Given the description of an element on the screen output the (x, y) to click on. 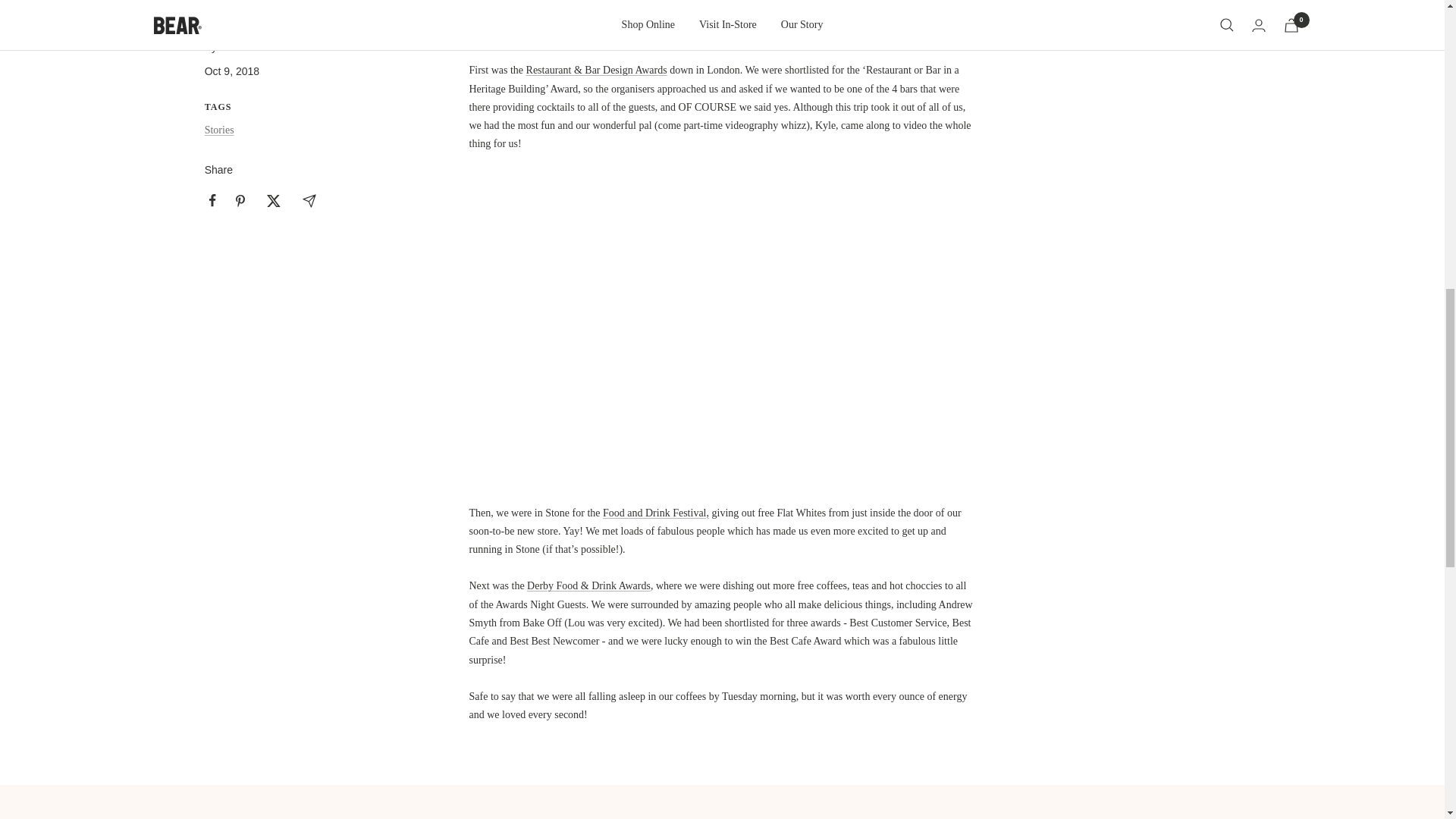
Food and Drink Festival, (655, 512)
Stories (219, 129)
